Given the description of an element on the screen output the (x, y) to click on. 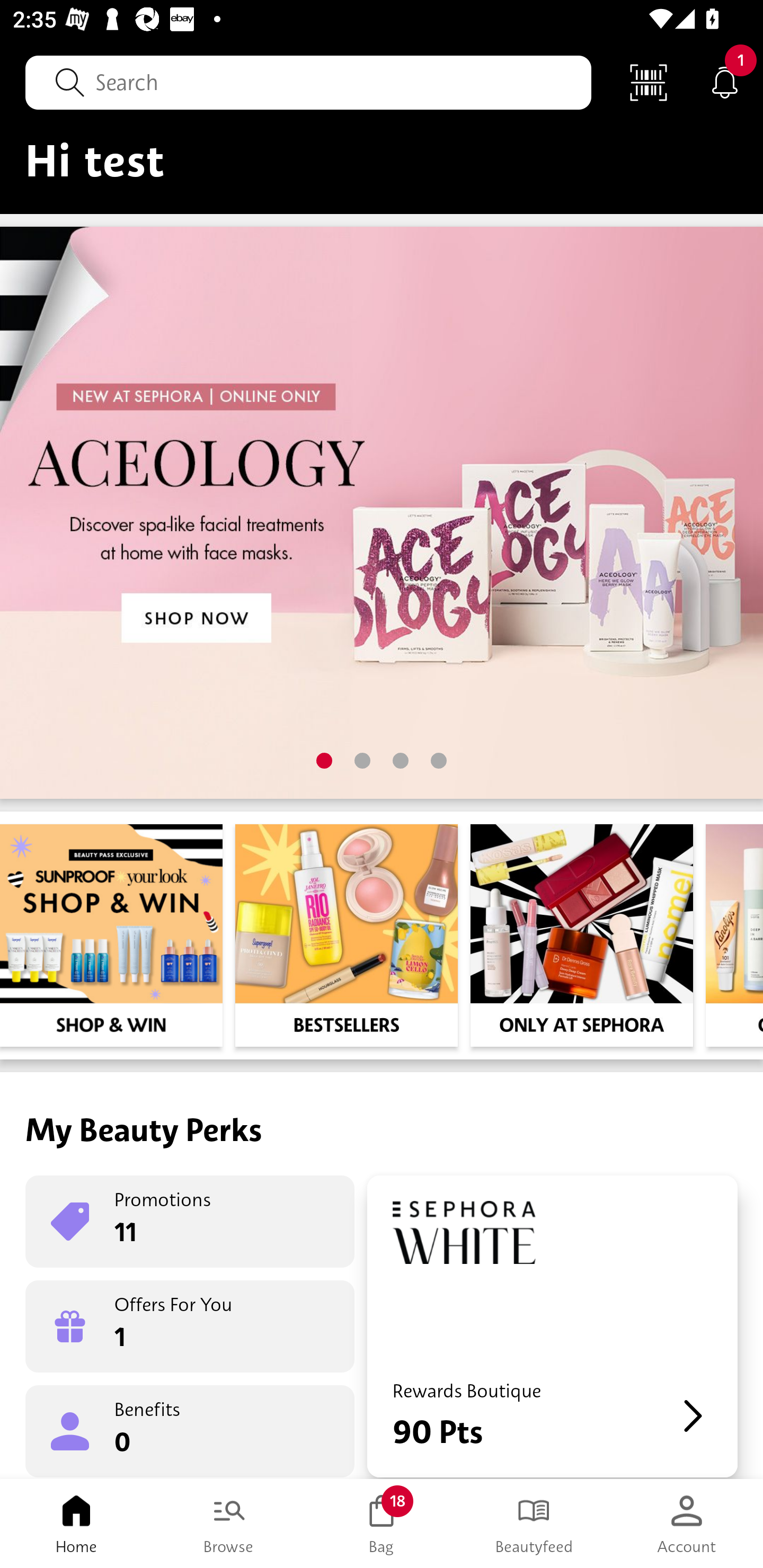
Scan Code (648, 81)
Notifications (724, 81)
Search (308, 81)
Promotions 11 (189, 1221)
Rewards Boutique 90 Pts (552, 1326)
Offers For You 1 (189, 1326)
Benefits 0 (189, 1430)
Browse (228, 1523)
Bag 18 Bag (381, 1523)
Beautyfeed (533, 1523)
Account (686, 1523)
